Given the description of an element on the screen output the (x, y) to click on. 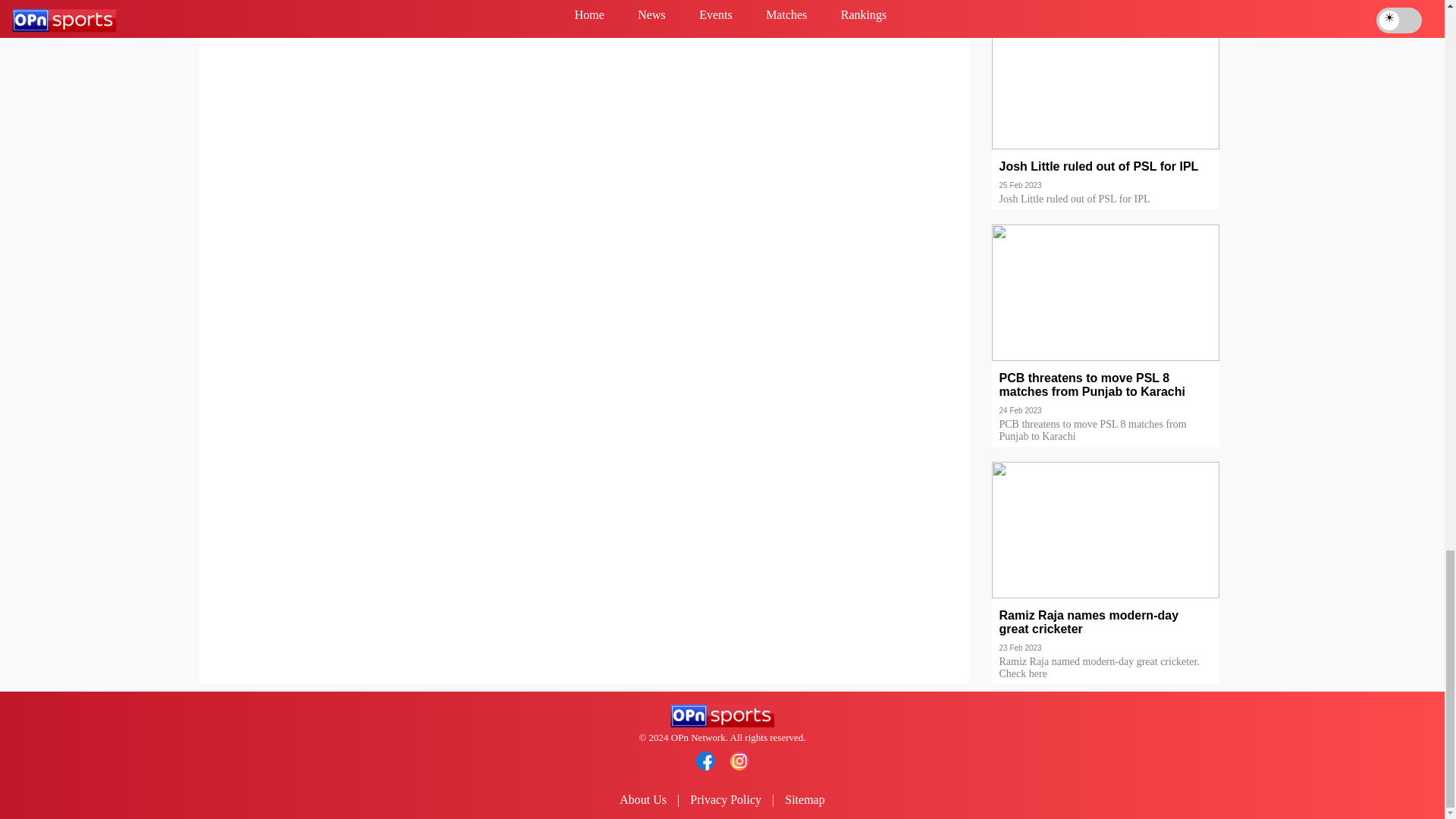
Josh Little ruled out of PSL for IPL (1105, 176)
Sitemap (804, 799)
Ramiz Raja names modern-day great cricketer (1105, 633)
PCB threatens to move PSL 8 matches from Punjab to Karachi (1105, 395)
About Us (643, 799)
Privacy Policy (725, 799)
